Given the description of an element on the screen output the (x, y) to click on. 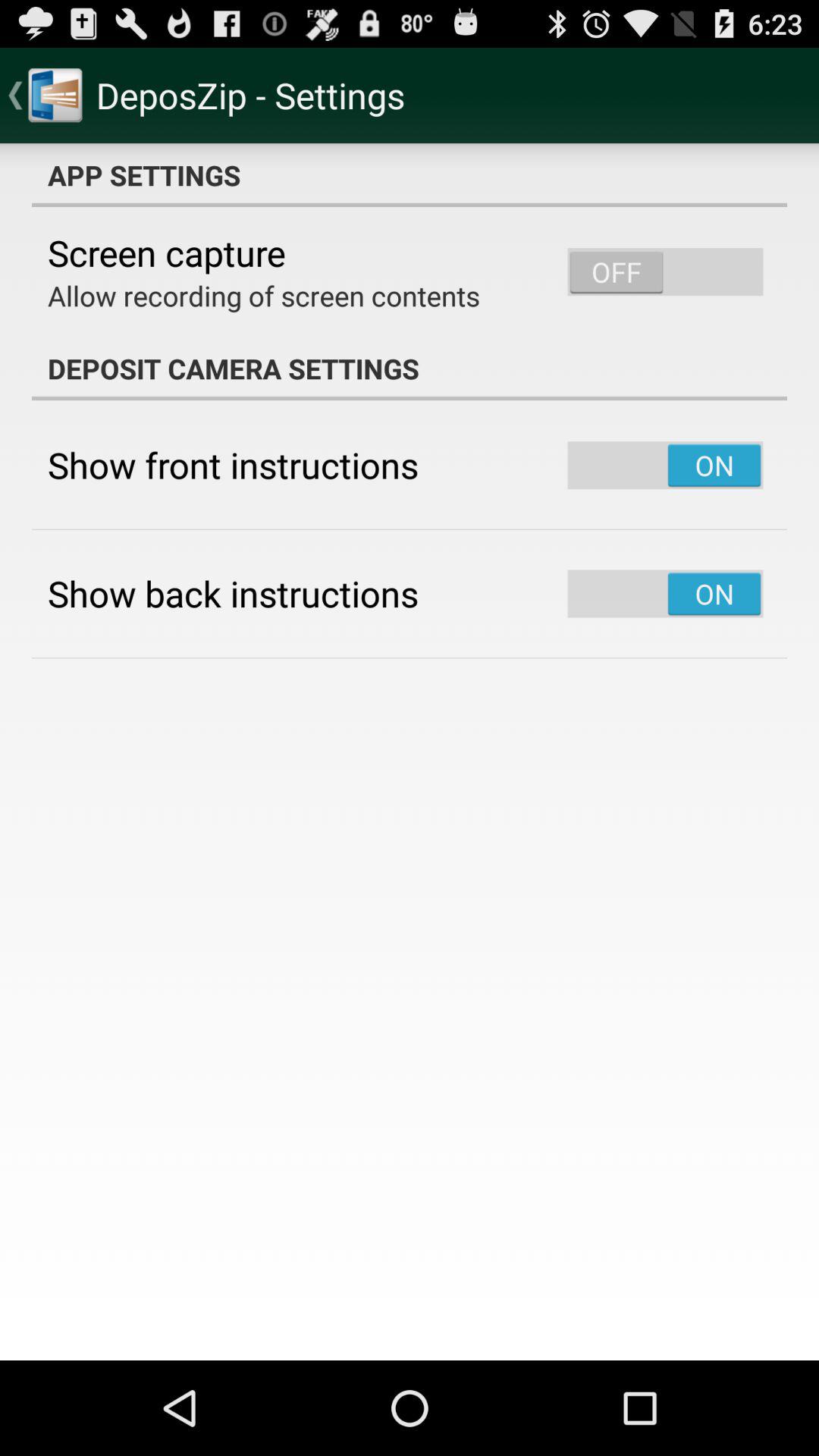
turn off icon above the screen capture item (409, 175)
